Given the description of an element on the screen output the (x, y) to click on. 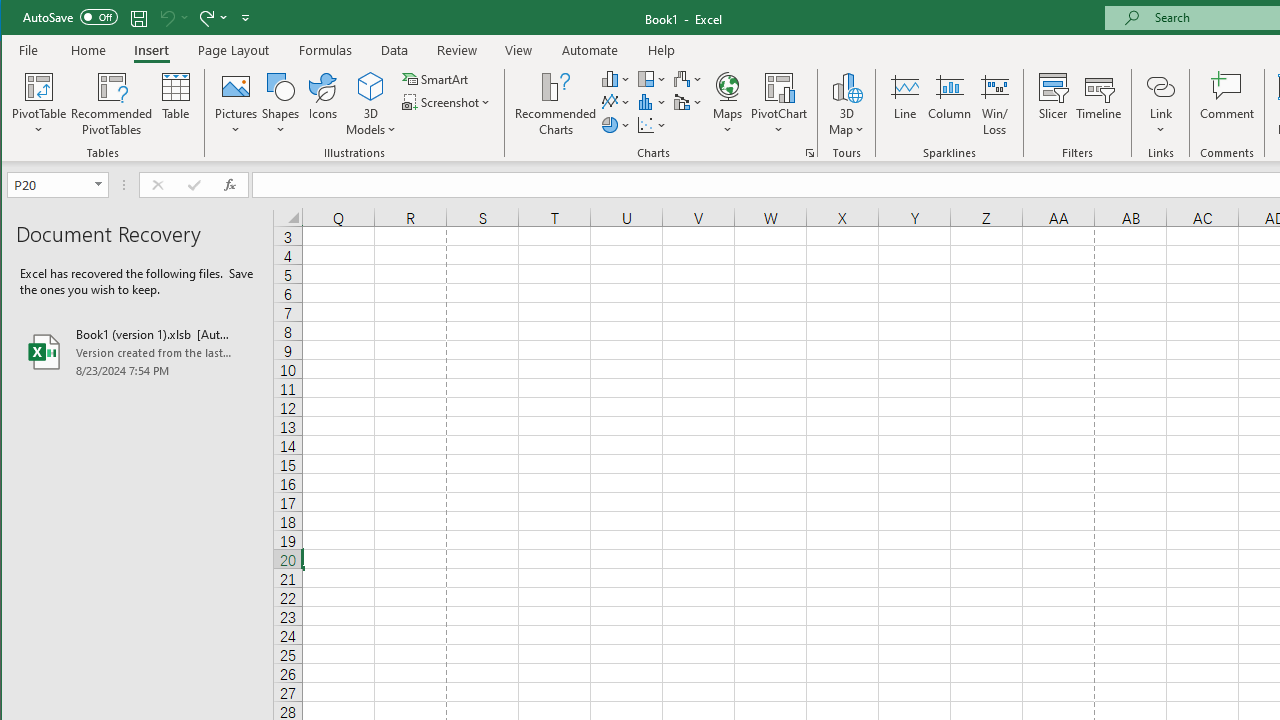
Book1 (version 1).xlsb  [AutoRecovered] (137, 352)
3D Models (371, 104)
Insert Line or Area Chart (616, 101)
Link (1160, 86)
Slicer... (1052, 104)
Screenshot (447, 101)
Insert Combo Chart (688, 101)
Recommended PivotTables (111, 104)
Insert Statistic Chart (652, 101)
Shapes (280, 104)
